Given the description of an element on the screen output the (x, y) to click on. 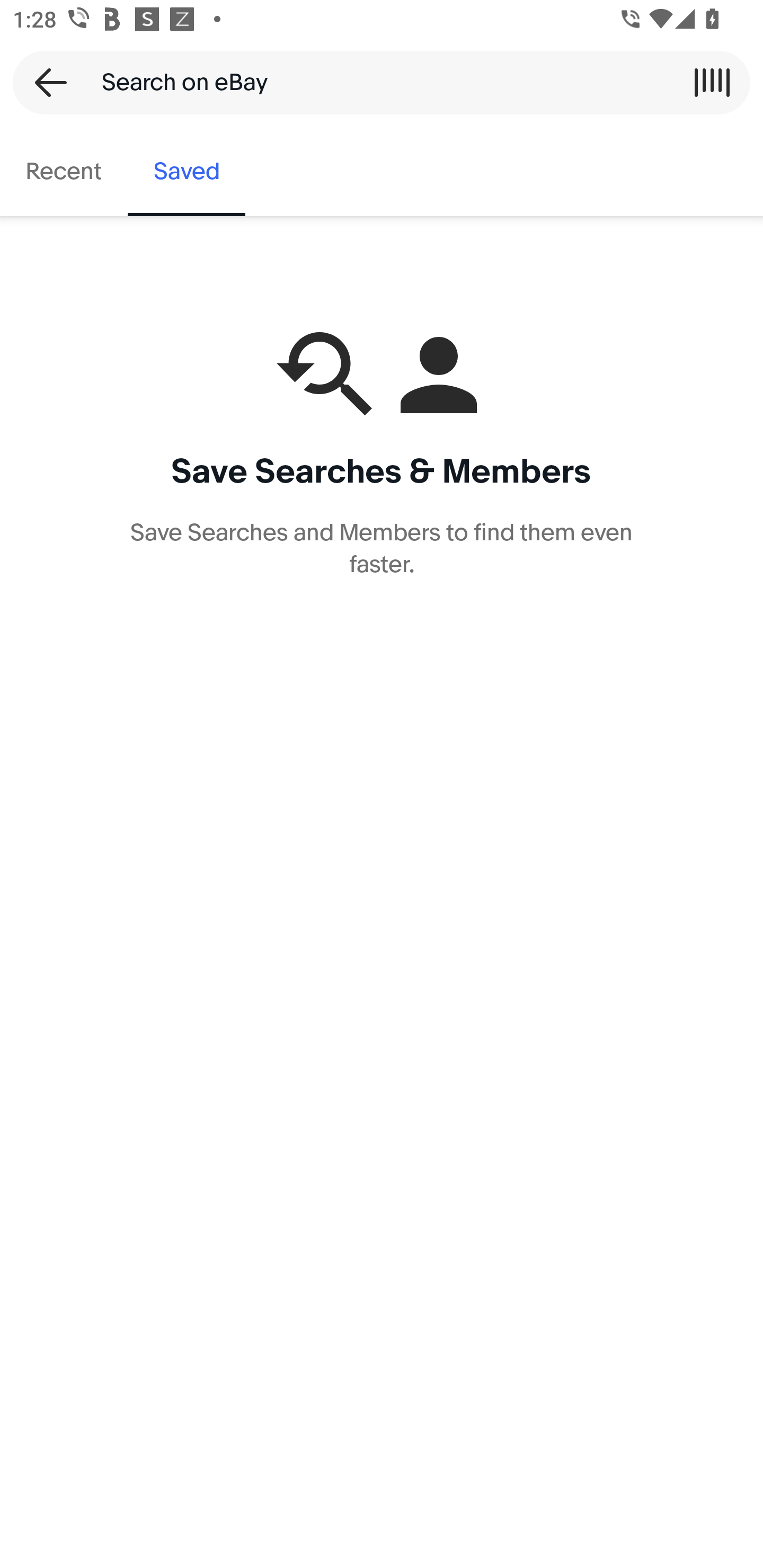
Back (44, 82)
Scan a barcode (711, 82)
Search on eBay (375, 82)
Recent, tab 1 of 2 Recent (63, 171)
